Given the description of an element on the screen output the (x, y) to click on. 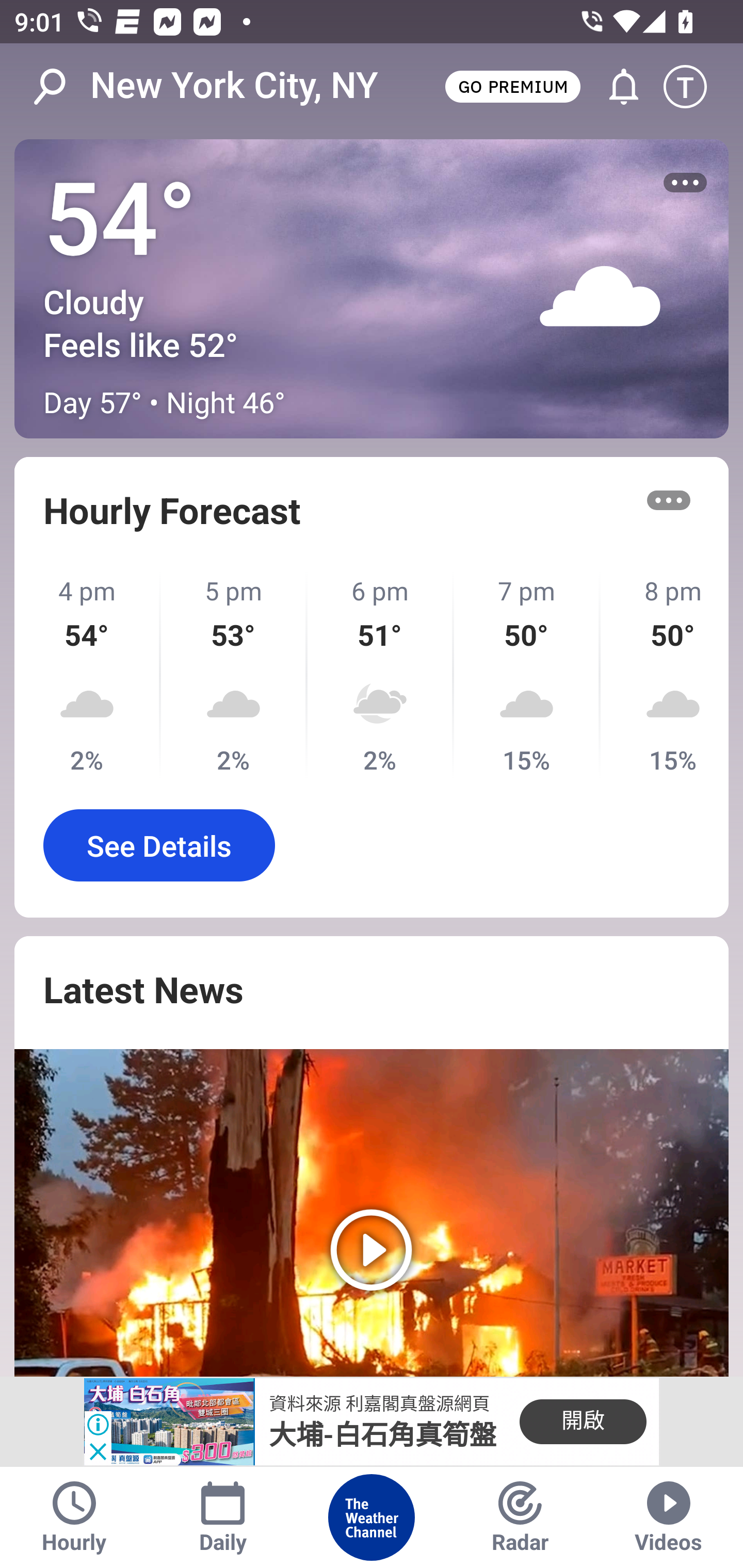
Search (59, 86)
Go to Alerts and Notifications (614, 86)
Setting icon T (694, 86)
New York City, NY (234, 85)
GO PREMIUM (512, 85)
More options (684, 182)
More options (668, 500)
4 pm 54° 2% (87, 674)
5 pm 53° 2% (234, 674)
6 pm 51° 2% (380, 674)
7 pm 50° 15% (526, 674)
8 pm 50° 15% (664, 674)
See Details (158, 845)
Play (371, 1212)
B30001746 (168, 1421)
資料來源 利嘉閣真盤源網頁 (379, 1403)
開啟 (582, 1421)
大埔-白石角真筍盤 (382, 1434)
Hourly Tab Hourly (74, 1517)
Daily Tab Daily (222, 1517)
Radar Tab Radar (519, 1517)
Videos Tab Videos (668, 1517)
